Given the description of an element on the screen output the (x, y) to click on. 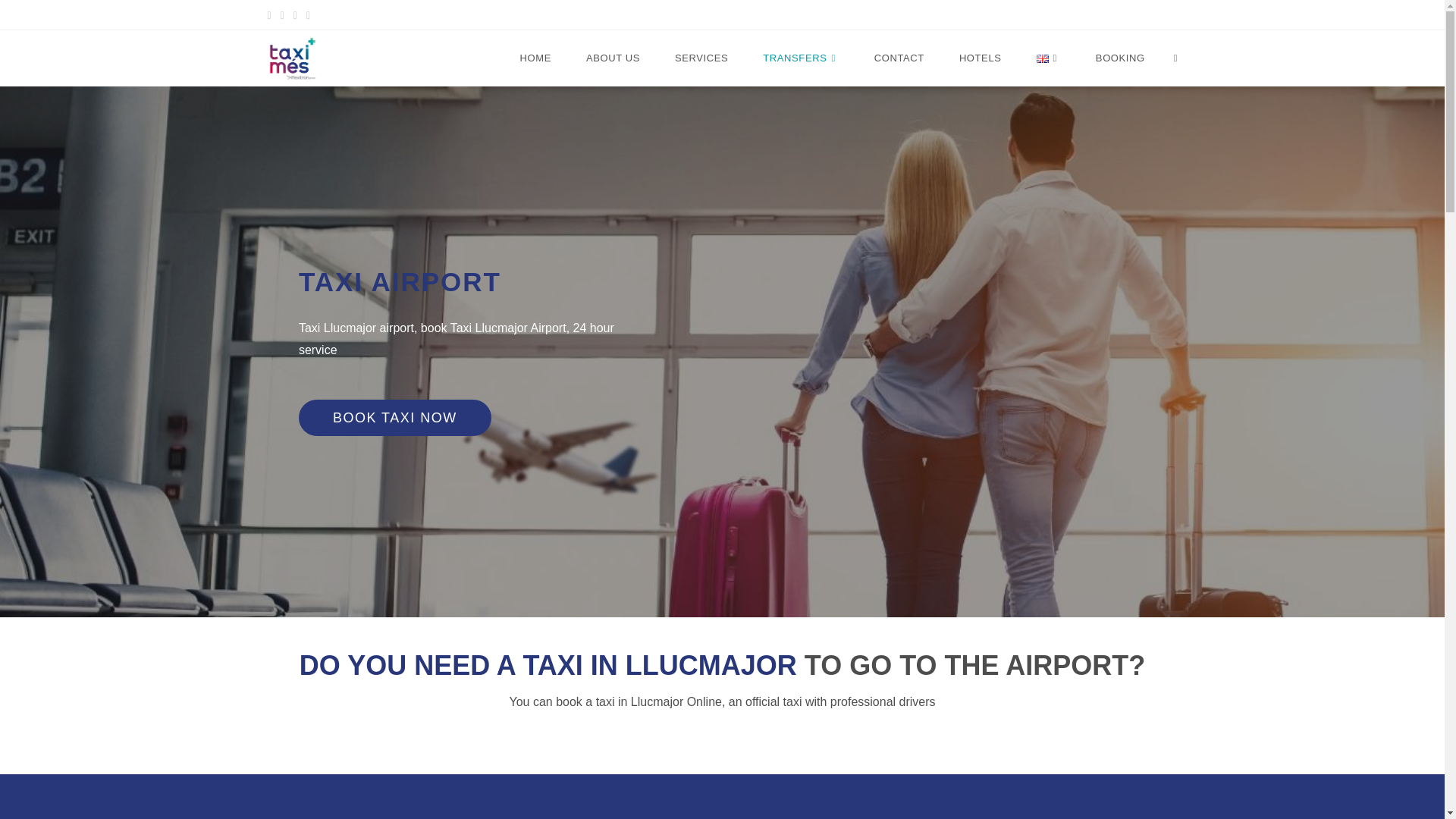
SERVICES (701, 58)
CONTACT (899, 58)
BOOKING (1119, 58)
HOME (535, 58)
My Account (1033, 14)
ABOUT US (613, 58)
HOTELS (980, 58)
TRANSFERS (801, 58)
BOOK TAXI NOW (395, 417)
